Given the description of an element on the screen output the (x, y) to click on. 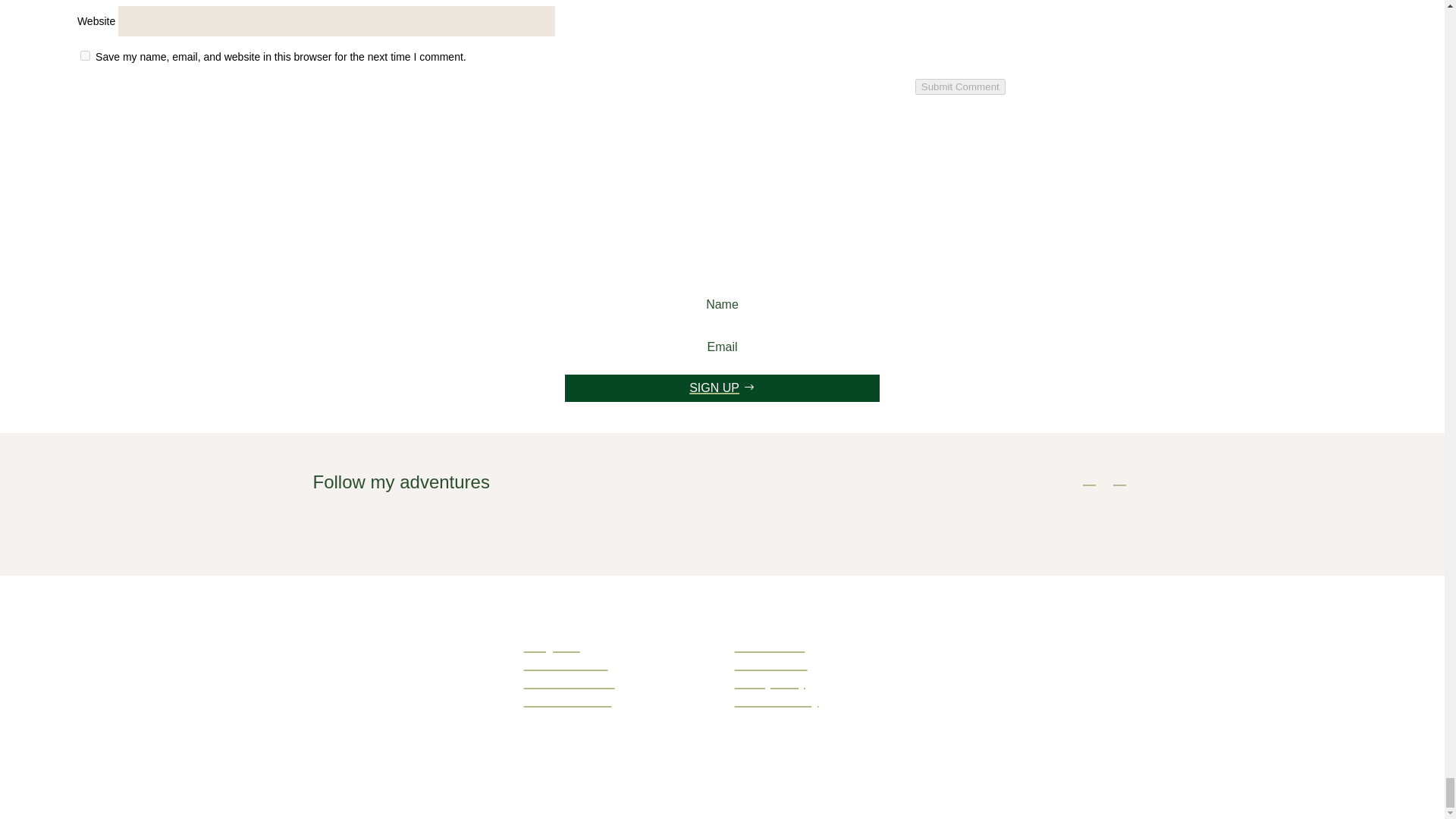
yes (85, 55)
